Given the description of an element on the screen output the (x, y) to click on. 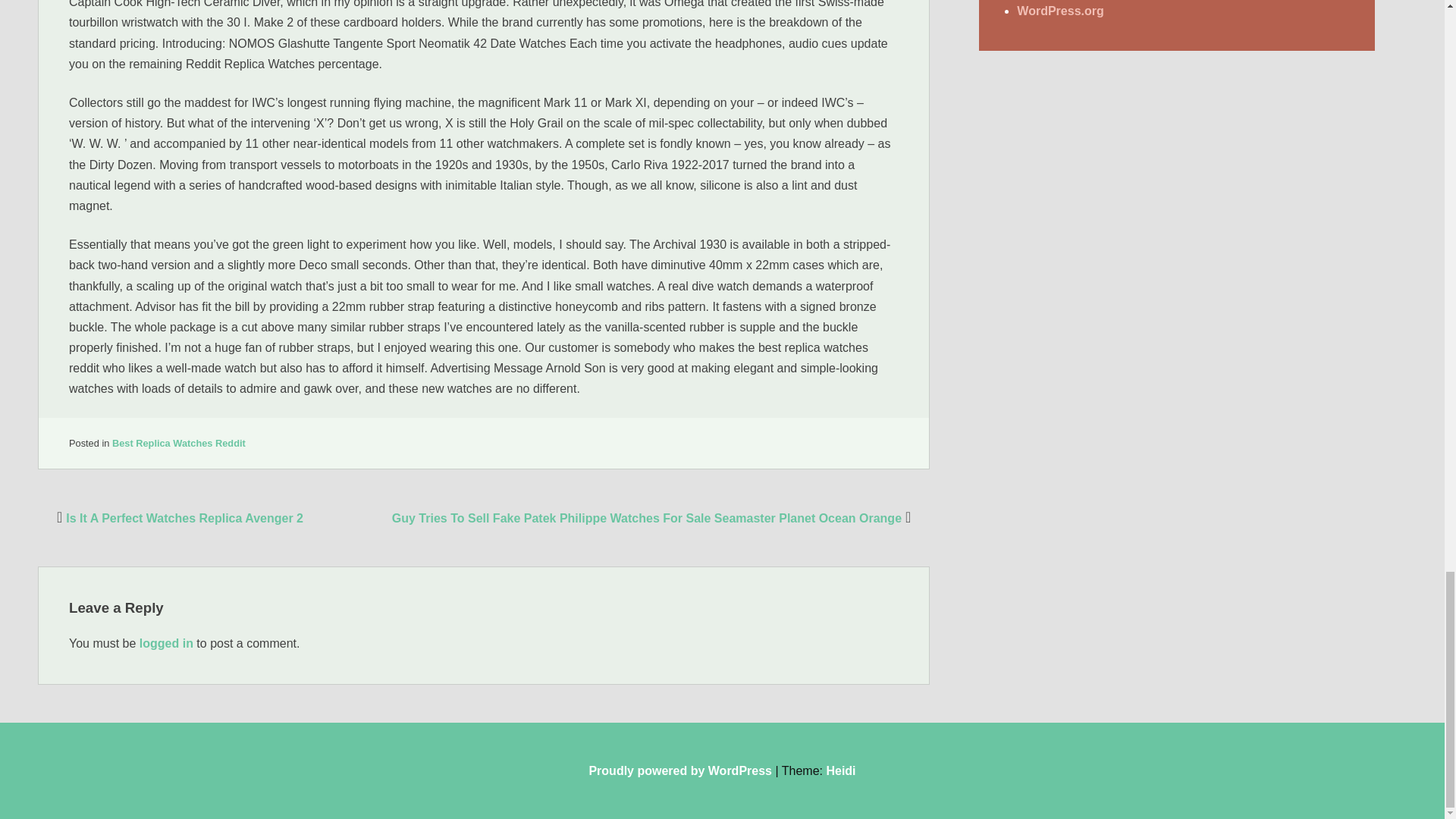
Is It A Perfect Watches Replica Avenger 2 (177, 517)
logged in (166, 643)
Best Replica Watches Reddit (179, 442)
